Given the description of an element on the screen output the (x, y) to click on. 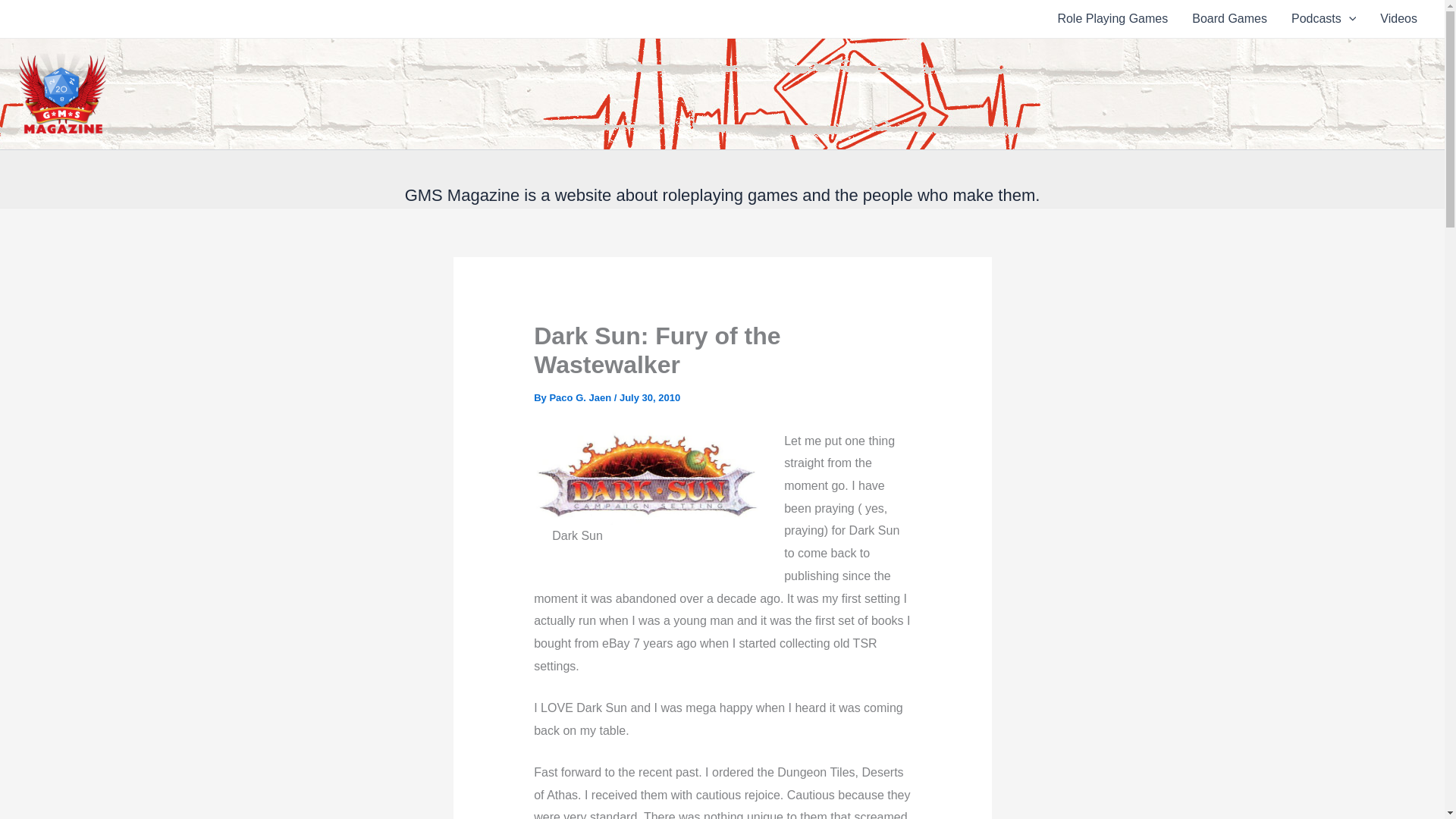
Dark Sun Logo (646, 476)
Board Games (1229, 18)
View all posts by Paco G. Jaen (580, 397)
Role Playing Games (1112, 18)
Paco G. Jaen (580, 397)
Podcasts (1323, 18)
Videos (1398, 18)
